Given the description of an element on the screen output the (x, y) to click on. 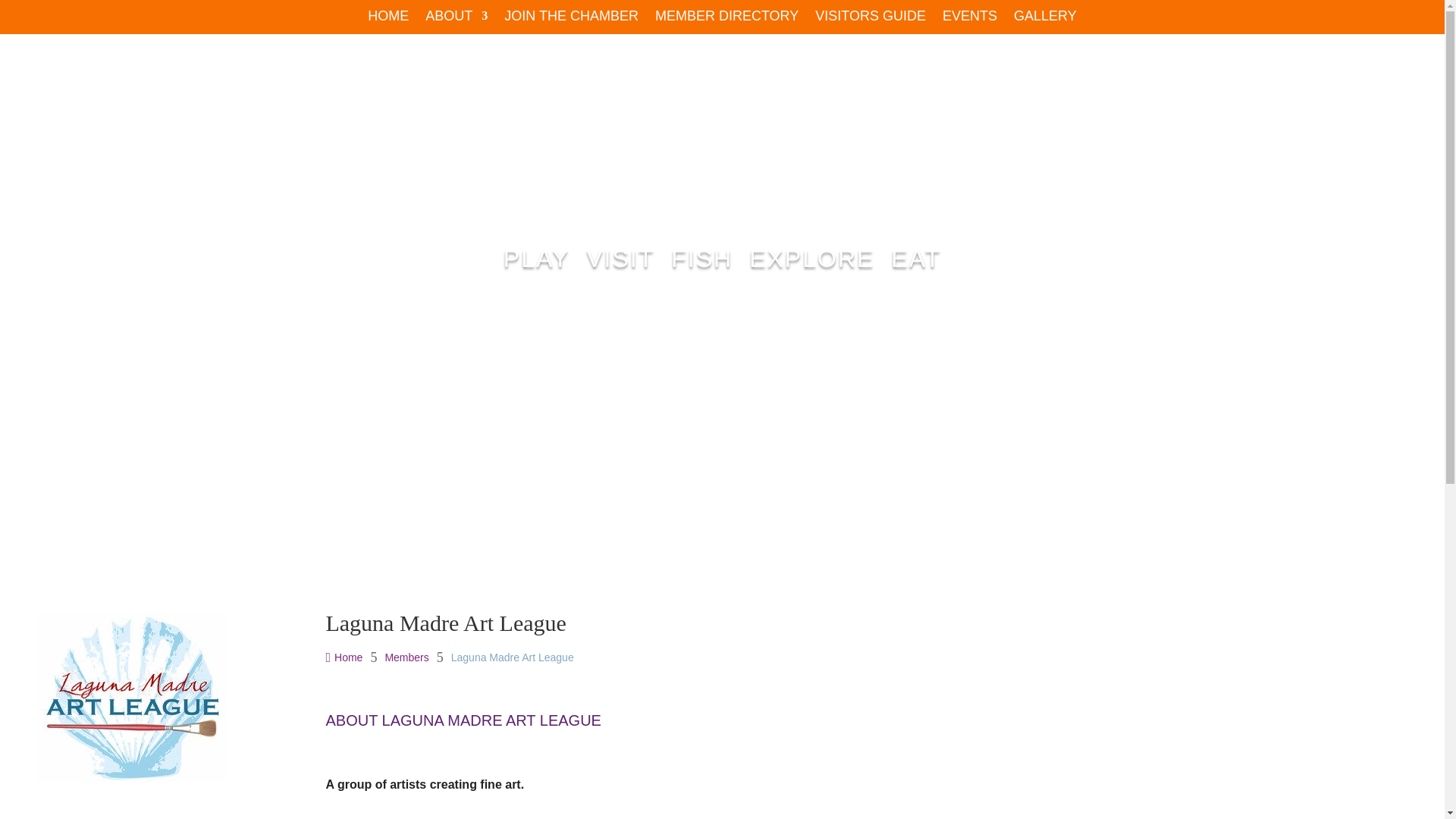
VISITORS GUIDE (870, 18)
FISH (701, 258)
JOIN THE CHAMBER (571, 18)
MEMBER DIRECTORY (726, 18)
GALLERY (1045, 18)
EXPLORE (812, 258)
EVENTS (969, 18)
HOME (388, 18)
ABOUT (456, 18)
Members (406, 657)
